Given the description of an element on the screen output the (x, y) to click on. 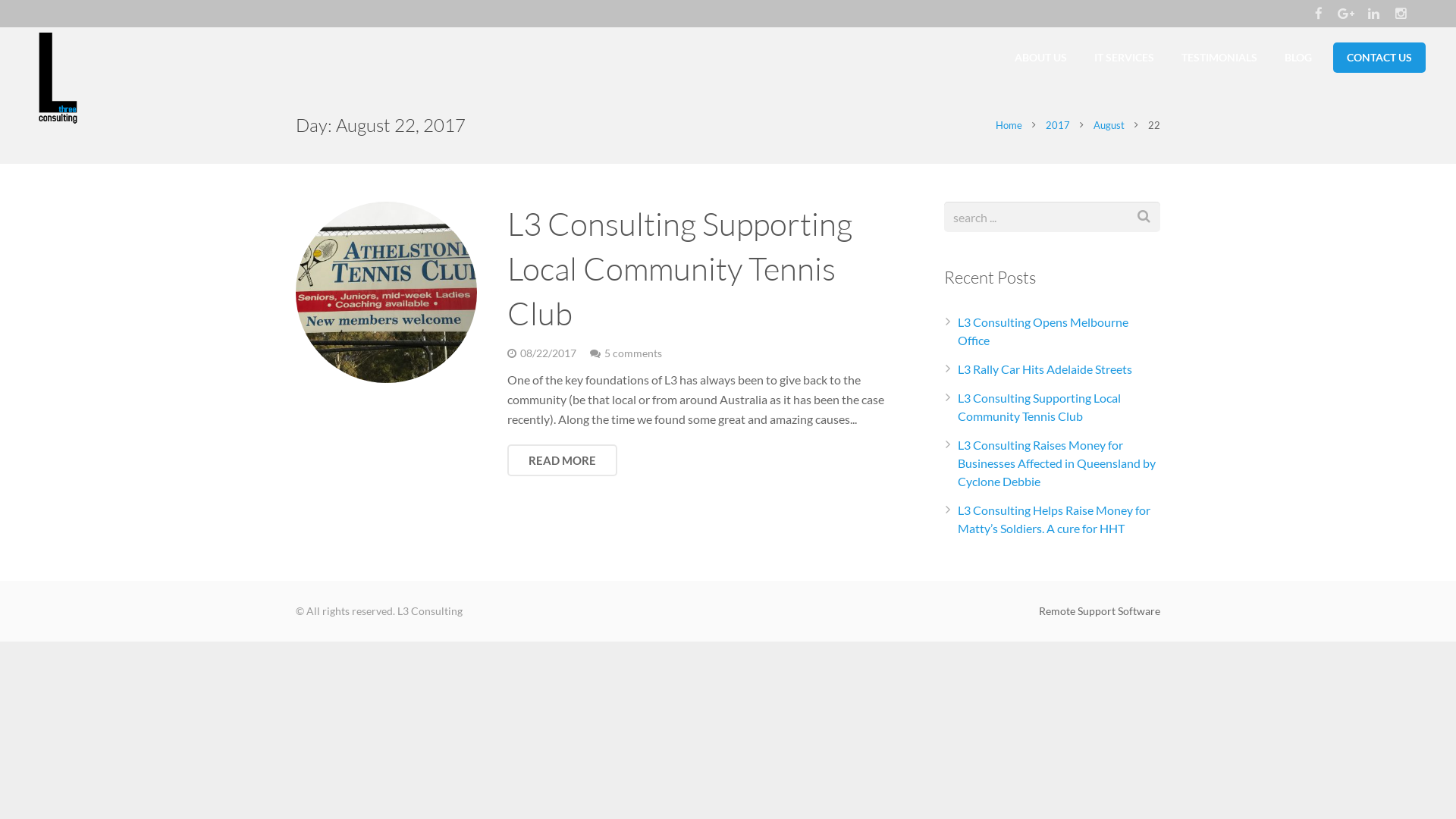
READ MORE Element type: text (562, 460)
L3 Consulting Supporting Local Community Tennis Club Element type: text (1038, 406)
2017 Element type: text (1057, 125)
BLOG Element type: text (1297, 57)
TESTIMONIALS Element type: text (1218, 57)
L3 Consulting Opens Melbourne Office Element type: text (1042, 330)
Remote Support Software Element type: text (1099, 610)
5 comments Element type: text (633, 352)
ABOUT US Element type: text (1040, 57)
August Element type: text (1108, 125)
Home Element type: text (1008, 125)
WP EZI Element type: text (482, 610)
L3 Rally Car Hits Adelaide Streets Element type: text (1044, 368)
CONTACT US Element type: text (1379, 57)
L3 Consulting Supporting Local Community Tennis Club Element type: text (679, 267)
IT SERVICES Element type: text (1123, 57)
